Given the description of an element on the screen output the (x, y) to click on. 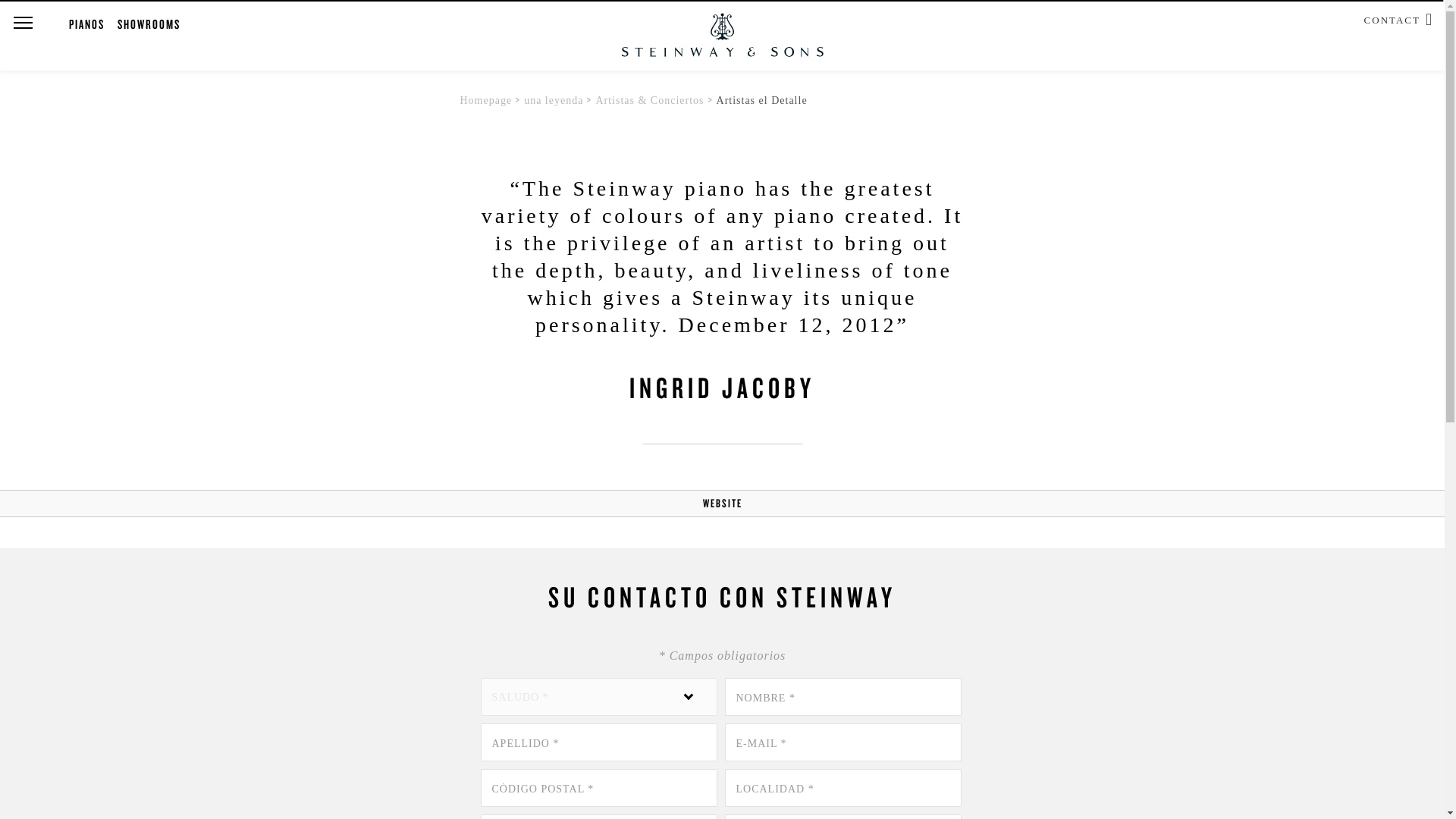
Homepage (486, 100)
Artistas el Detalle (761, 100)
WEBSITE (721, 503)
CONTACT (1392, 18)
SHOWROOMS (148, 23)
una leyenda (553, 100)
PIANOS (86, 23)
